Given the description of an element on the screen output the (x, y) to click on. 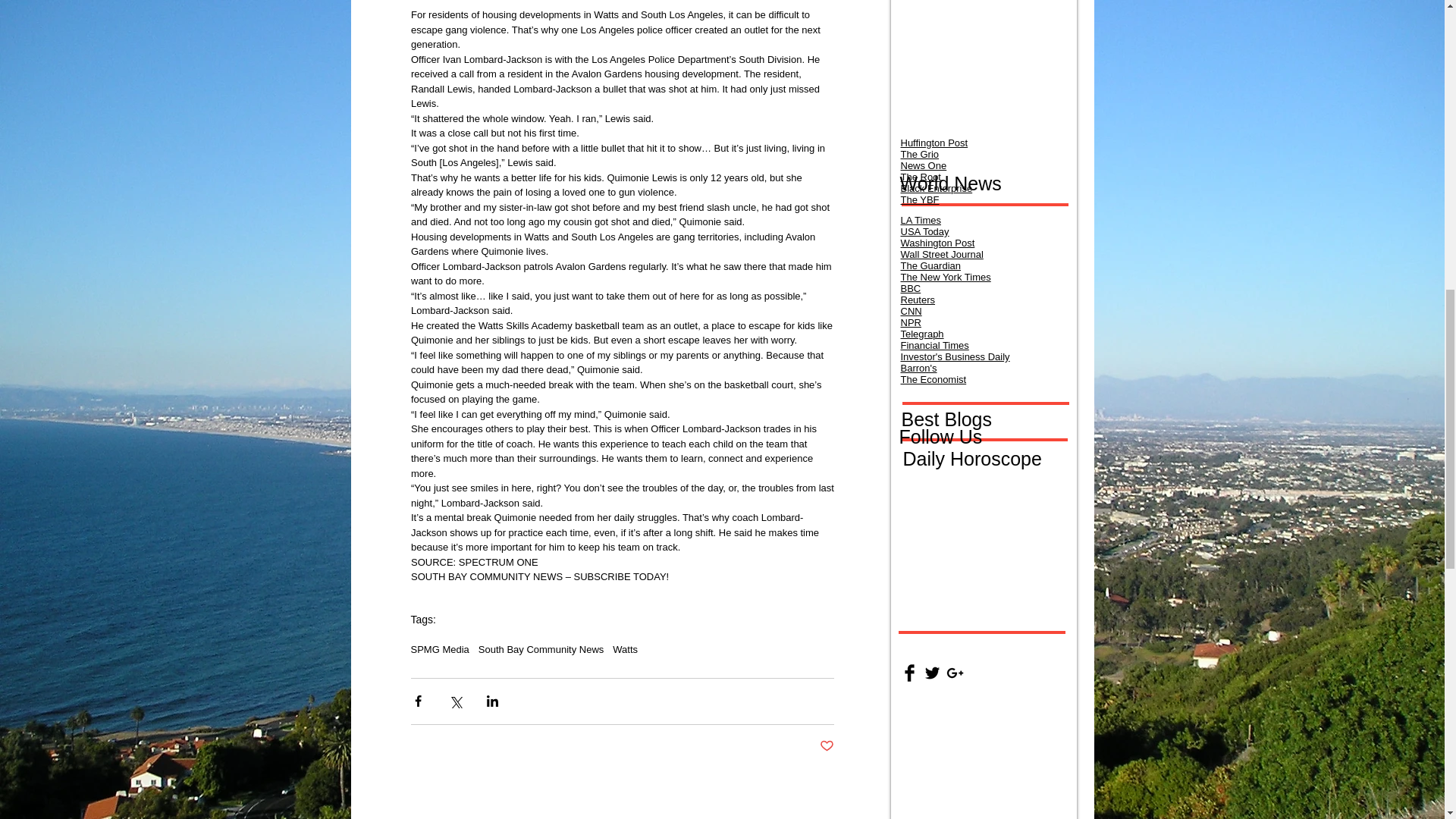
South Bay Community News (541, 649)
Post not marked as liked (825, 746)
SPMG Media (439, 649)
Watts (624, 649)
